Given the description of an element on the screen output the (x, y) to click on. 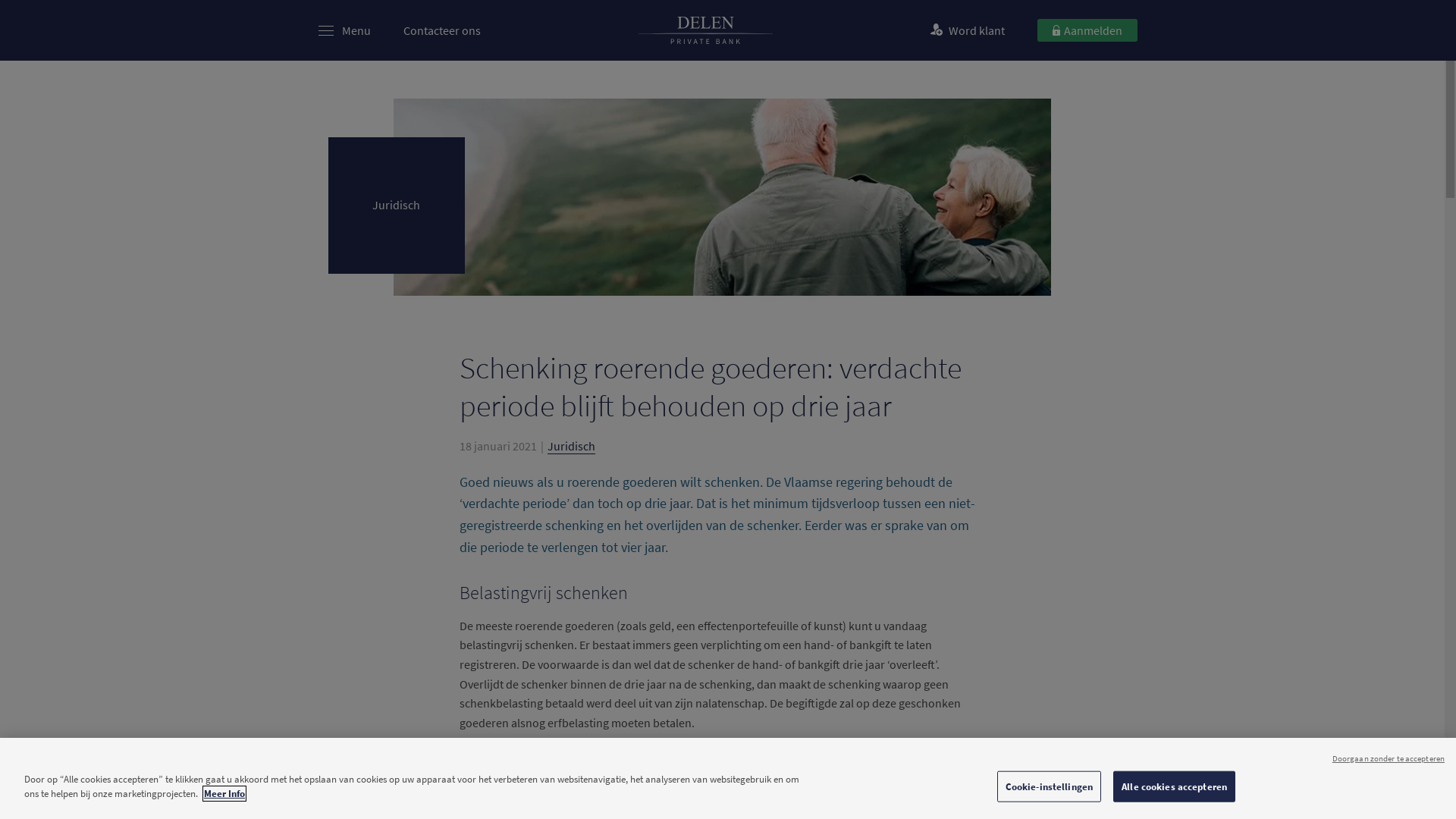
Contacteer ons Element type: text (441, 30)
Alle cookies accepteren Element type: text (1174, 787)
Juridisch Element type: text (571, 446)
Cookie-instellingen Element type: text (1049, 787)
Aanmelden Element type: text (1087, 29)
Word klant Element type: text (968, 29)
Menu Element type: text (356, 29)
Meer Info Element type: text (223, 793)
Doorgaan zonder te accepteren Element type: text (1388, 758)
